Given the description of an element on the screen output the (x, y) to click on. 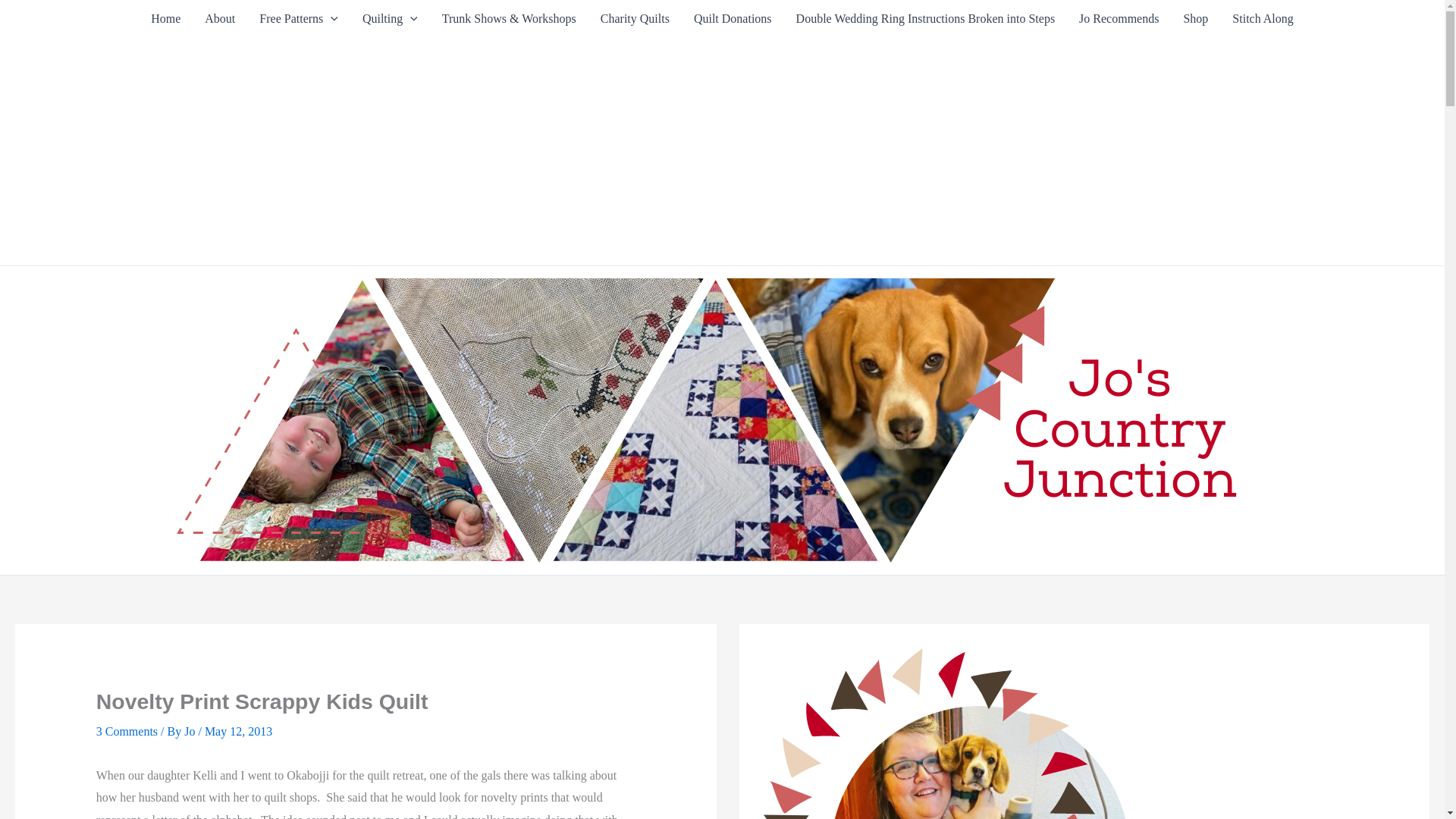
Home (165, 18)
Quilts of 2012 (389, 18)
About (219, 18)
Quilt Donations (732, 18)
View all posts by Jo (191, 730)
Charity Quilts (634, 18)
Free Patterns (298, 18)
Quilting (389, 18)
